Given the description of an element on the screen output the (x, y) to click on. 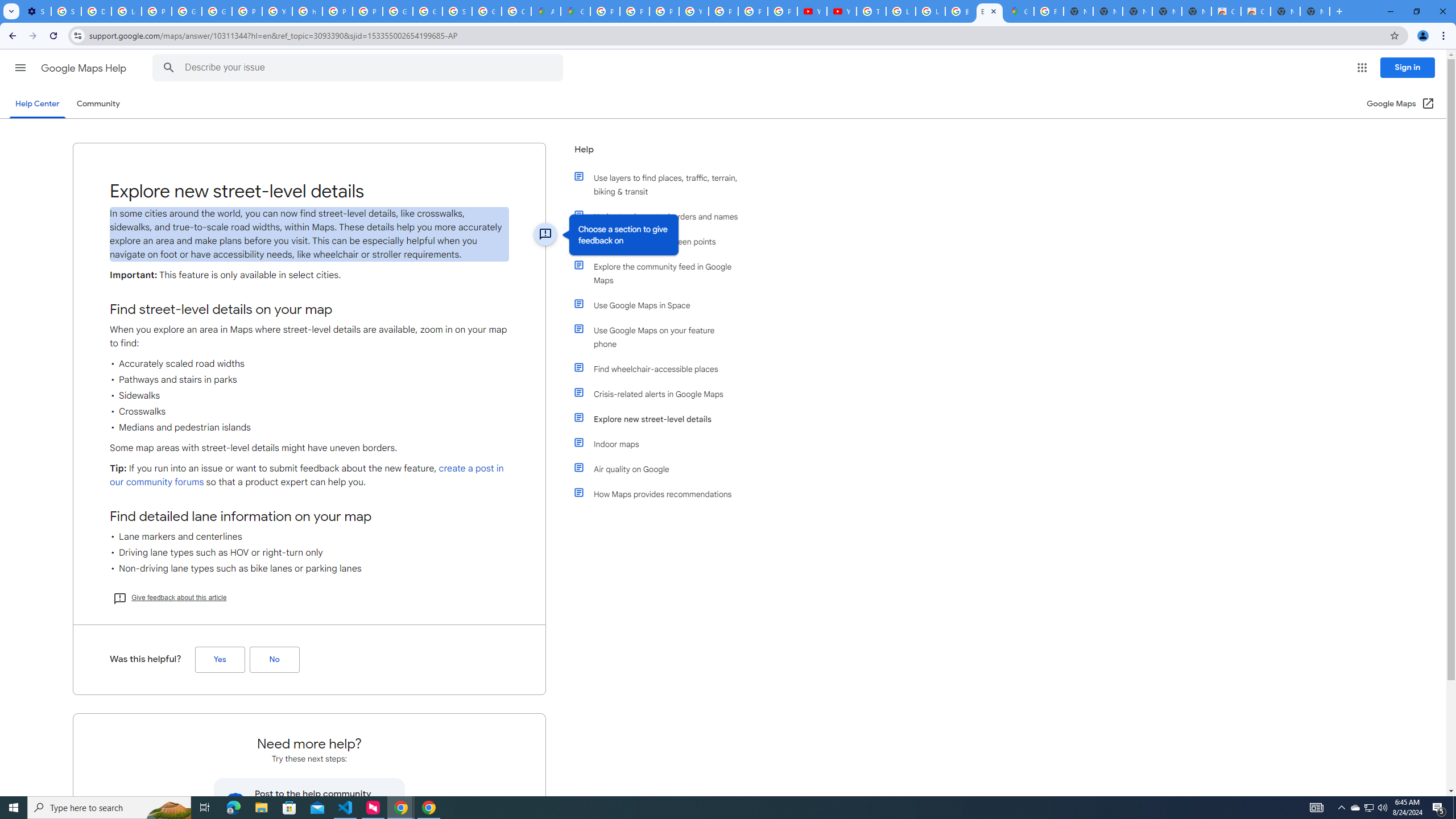
Find detailed lane information on your map (309, 515)
Classic Blue - Chrome Web Store (1255, 11)
Sidewalks (309, 395)
YouTube (811, 11)
Classic Blue - Chrome Web Store (1226, 11)
Policy Accountability and Transparency - Transparency Center (604, 11)
YouTube (277, 11)
Sign in - Google Accounts (65, 11)
Indoor maps (661, 444)
